Given the description of an element on the screen output the (x, y) to click on. 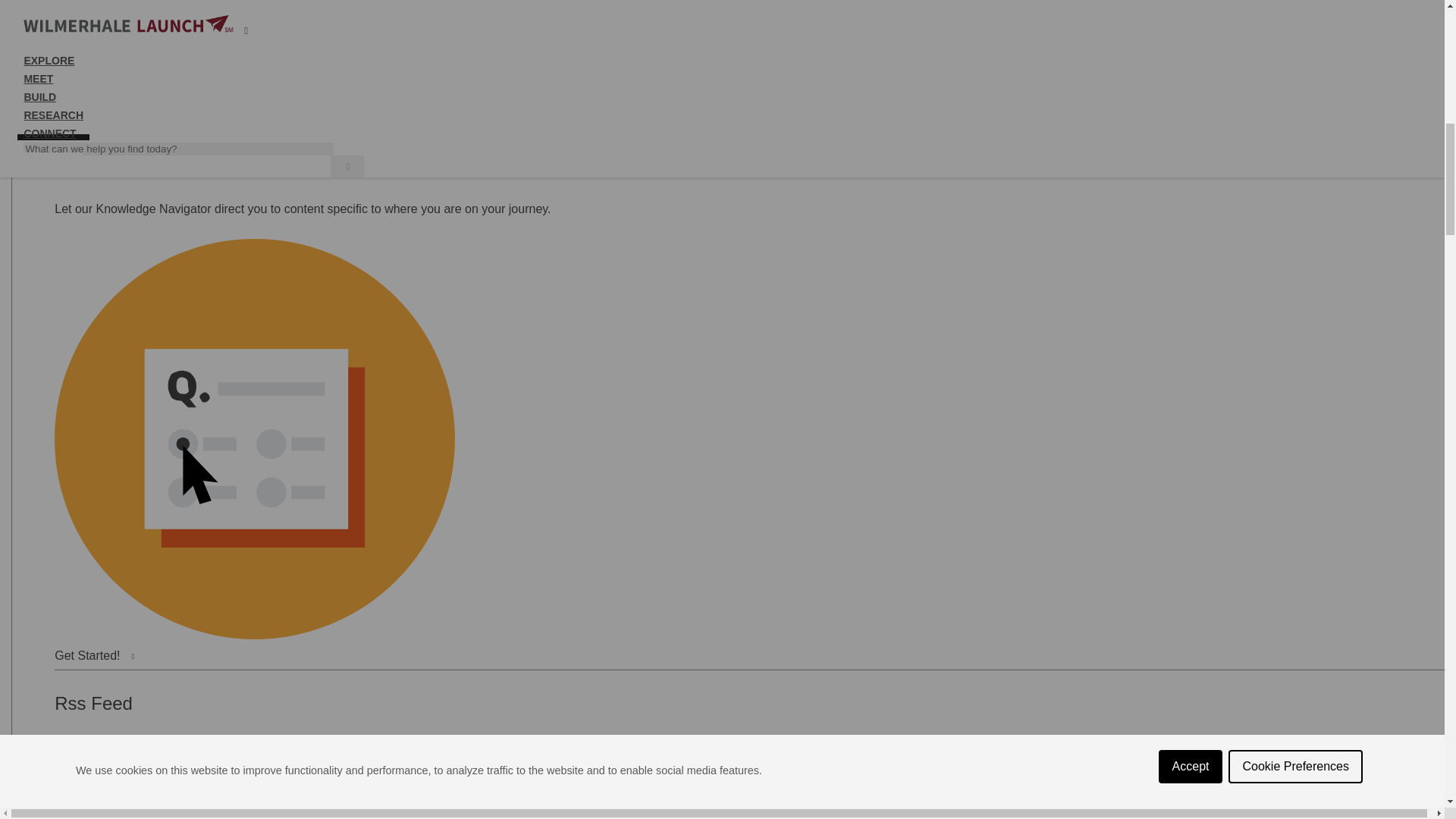
Cookie Preferences (1295, 3)
Accept (1190, 13)
